Given the description of an element on the screen output the (x, y) to click on. 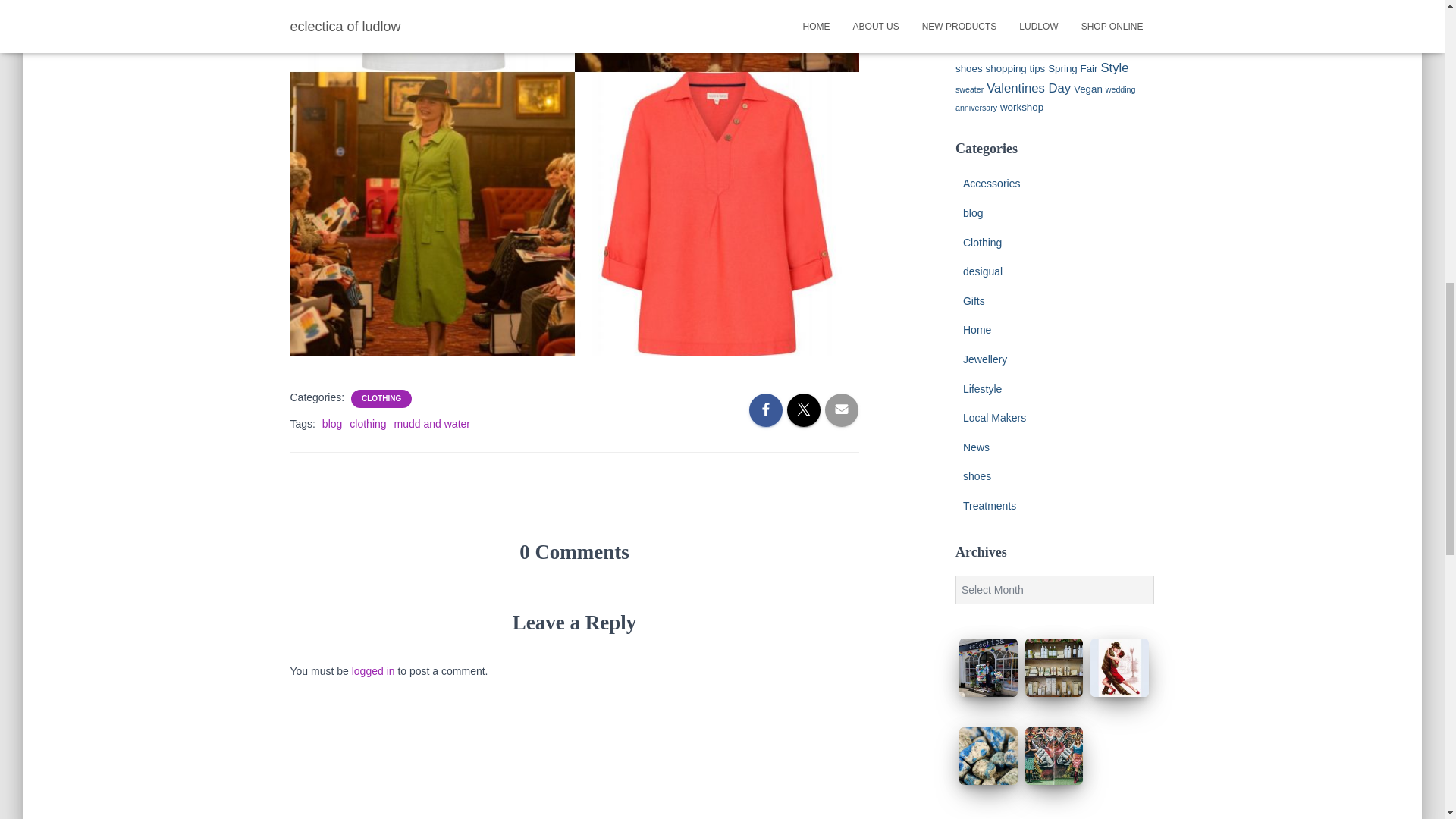
blog (331, 423)
logged in (373, 671)
CLOTHING (381, 398)
clothing (367, 423)
mudd and water (432, 423)
